Given the description of an element on the screen output the (x, y) to click on. 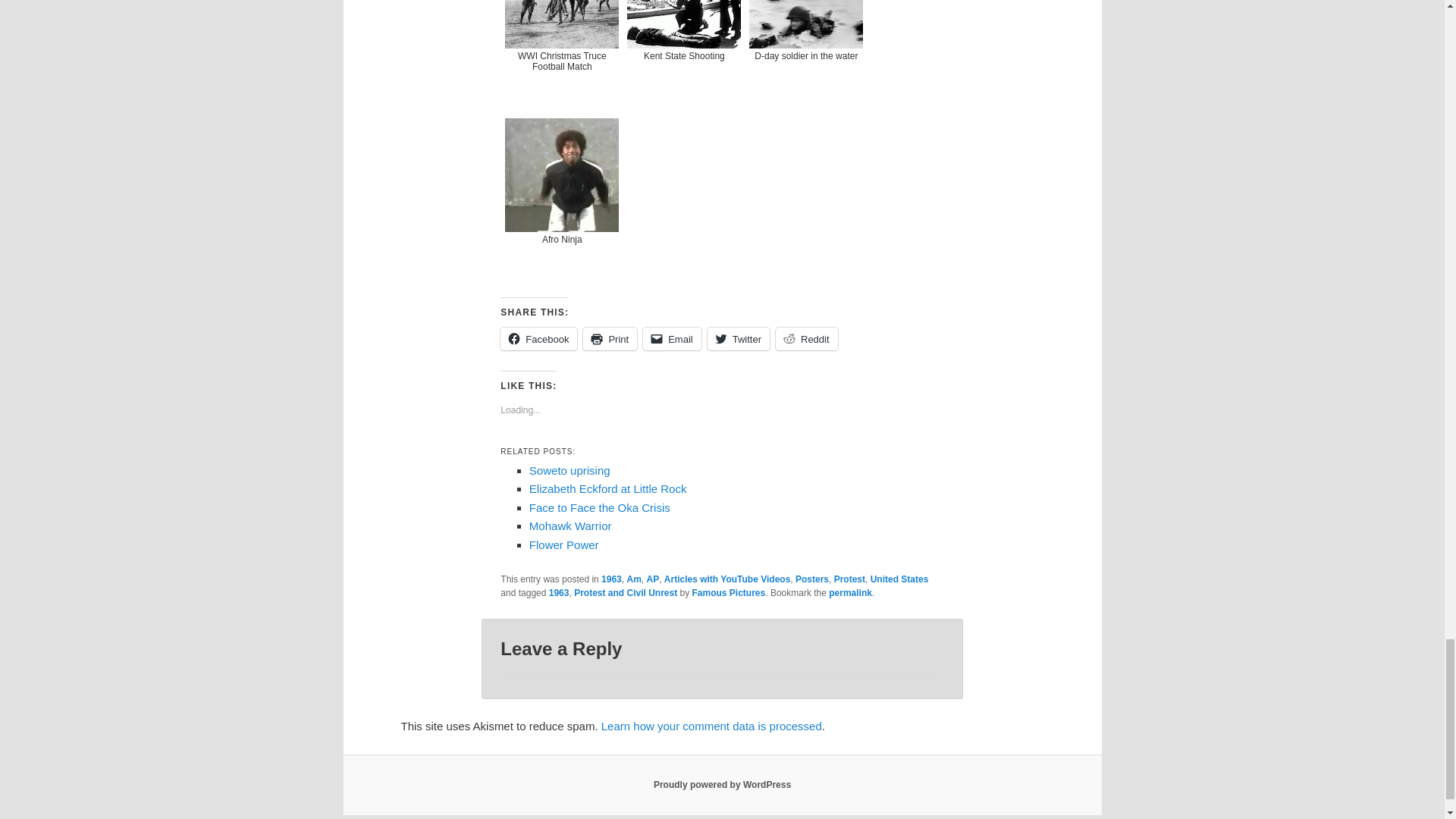
WWI Christmas Truce Football Match (561, 54)
Click to share on Facebook (538, 338)
Print (610, 338)
Kent State Shooting (684, 54)
Facebook (538, 338)
Flower Power (563, 544)
Afro Ninja (561, 203)
Permalink to I Have a Dream (850, 593)
Click to share on Reddit (807, 338)
Elizabeth Eckford at Little Rock (608, 488)
Soweto uprising (569, 470)
Semantic Personal Publishing Platform (721, 784)
D-day soldier in the water (805, 54)
Click to share on Twitter (738, 338)
Click to email a link to a friend (672, 338)
